Given the description of an element on the screen output the (x, y) to click on. 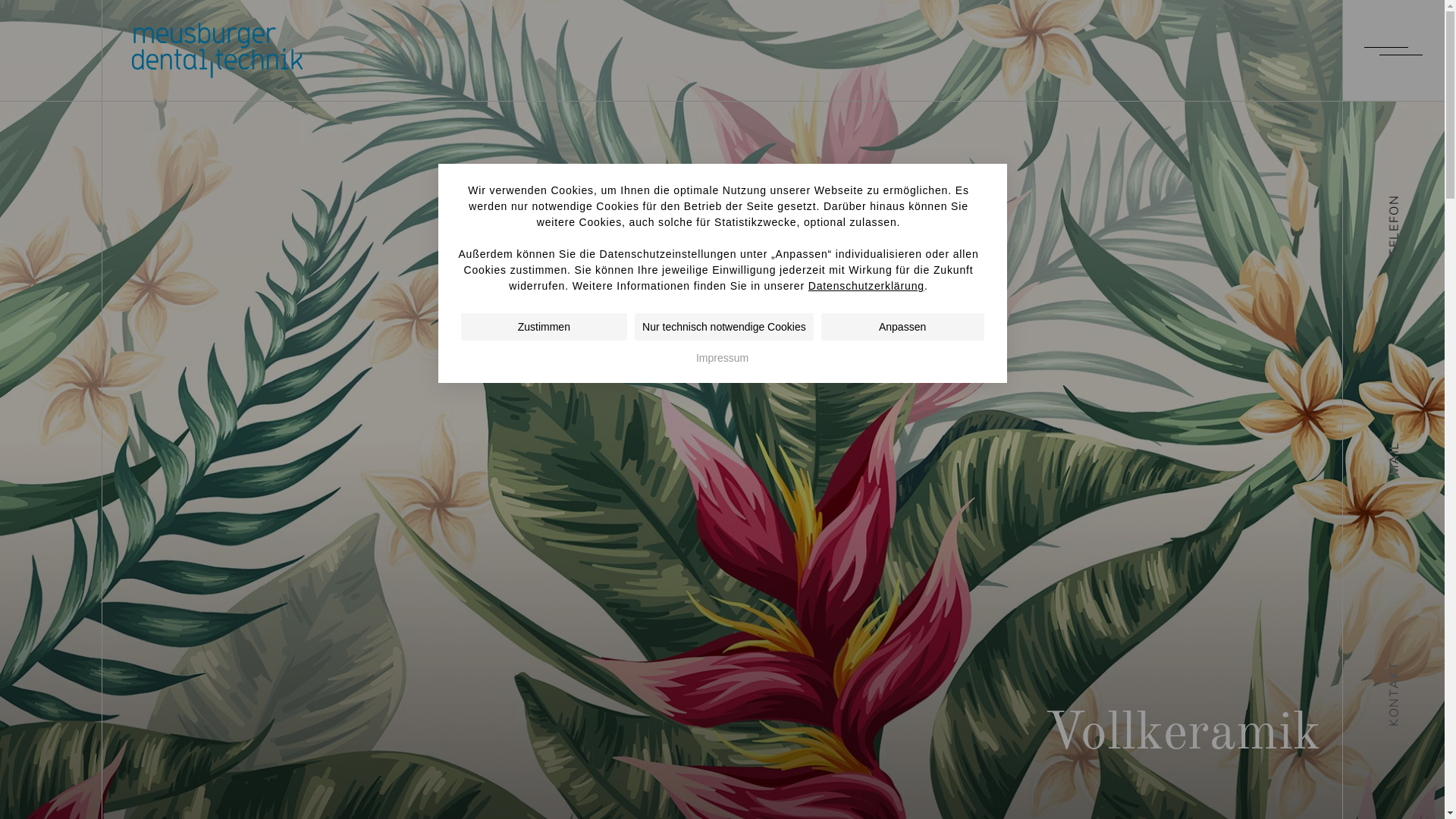
TELEFON Element type: text (1415, 203)
KONTAKT Element type: text (1416, 670)
office@dentaltechnik.cc Element type: text (803, 568)
Nur technisch notwendige Cookies Element type: text (723, 326)
Zustimmen Element type: text (544, 326)
Dentallabor Wien, Meusburger Dentaltechnik Element type: hover (216, 50)
Impressum Element type: text (622, 750)
Impressum Element type: text (721, 357)
MAIL Element type: text (1401, 450)
Sitemap Element type: text (834, 750)
Datenschutz Element type: text (733, 750)
+ 43 1942 32 01 0 Element type: text (619, 568)
Anpassen Element type: text (902, 326)
